Given the description of an element on the screen output the (x, y) to click on. 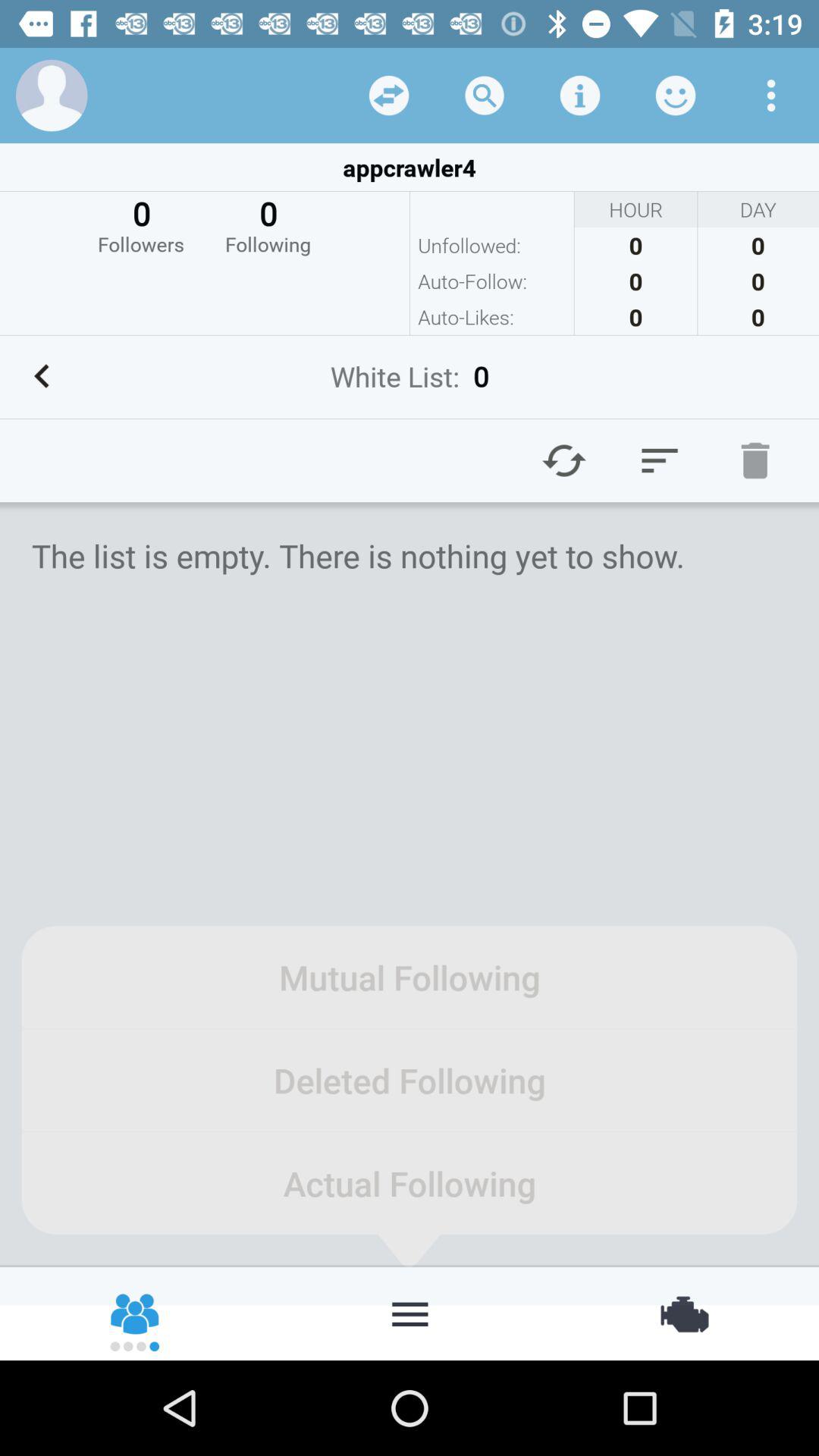
search option (484, 95)
